Given the description of an element on the screen output the (x, y) to click on. 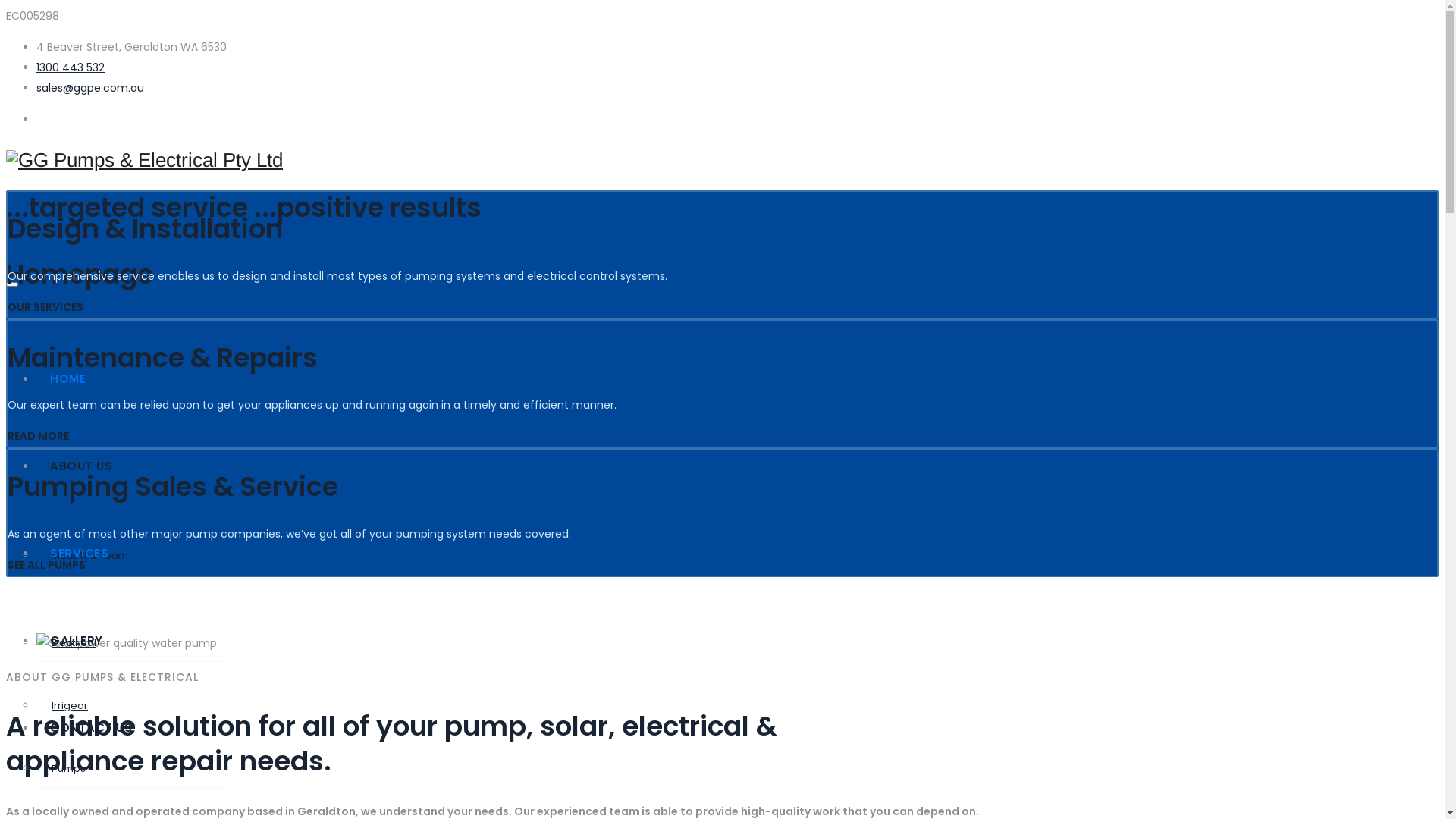
SERVICES Element type: text (737, 552)
1300 443 532 Element type: text (70, 67)
Pumps Element type: text (130, 768)
READ MORE Element type: text (38, 435)
Electrical Element type: text (130, 642)
Meet The Team Element type: text (130, 555)
SEE ALL PUMPS Element type: text (46, 564)
GALLERY Element type: text (737, 640)
Irrigear Element type: text (130, 705)
HOME Element type: text (737, 378)
CONTACT US Element type: text (737, 727)
sales@ggpe.com.au Element type: text (90, 87)
GG Pumps & Electrical Pty Ltd Element type: hover (712, 160)
OUR SERVICES Element type: text (45, 306)
ABOUT US Element type: text (737, 465)
